Given the description of an element on the screen output the (x, y) to click on. 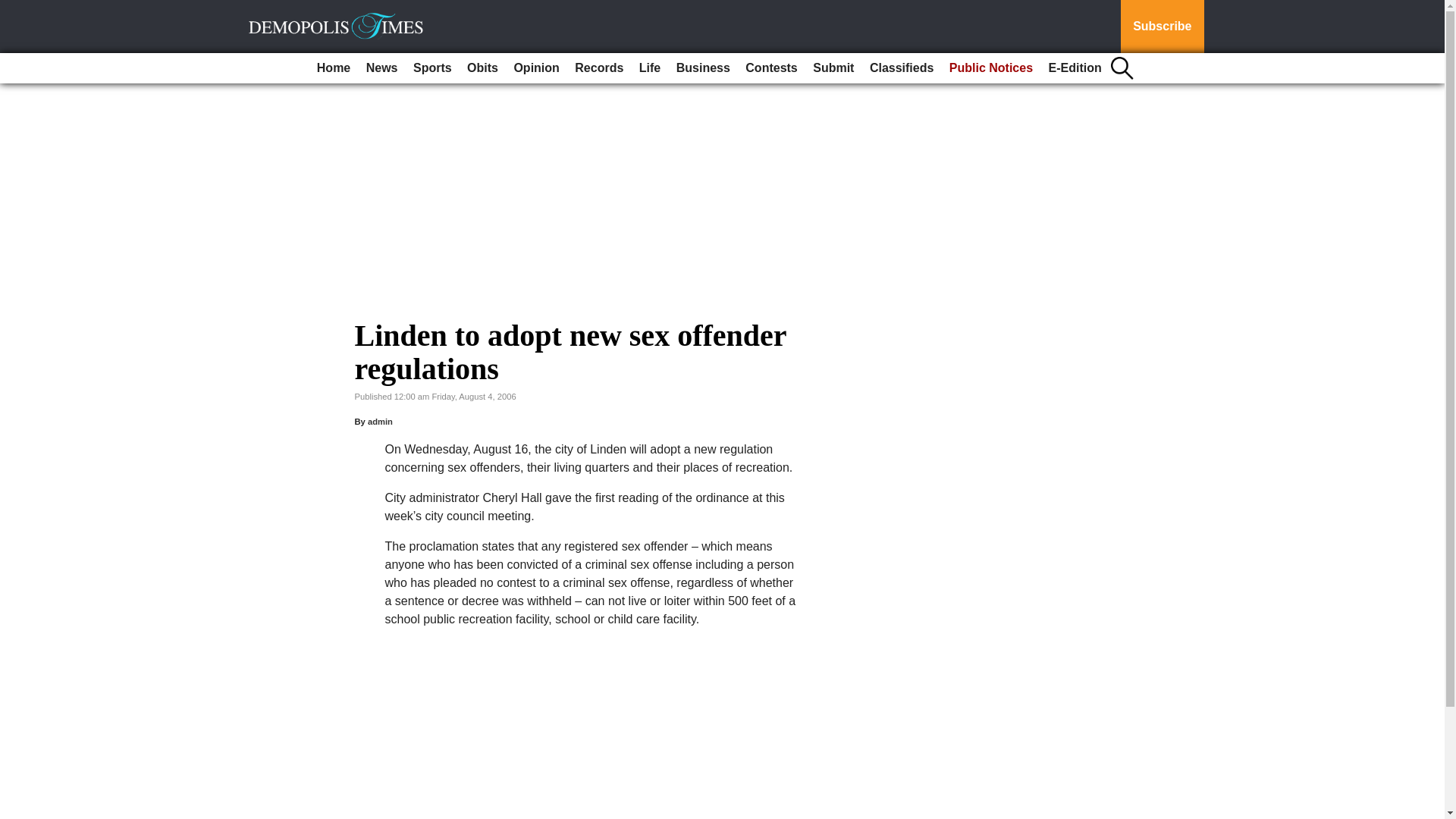
News (381, 68)
Obits (482, 68)
Records (598, 68)
Contests (771, 68)
Sports (432, 68)
Subscribe (1162, 26)
Go (13, 9)
E-Edition (1075, 68)
Business (702, 68)
Classifieds (901, 68)
